Given the description of an element on the screen output the (x, y) to click on. 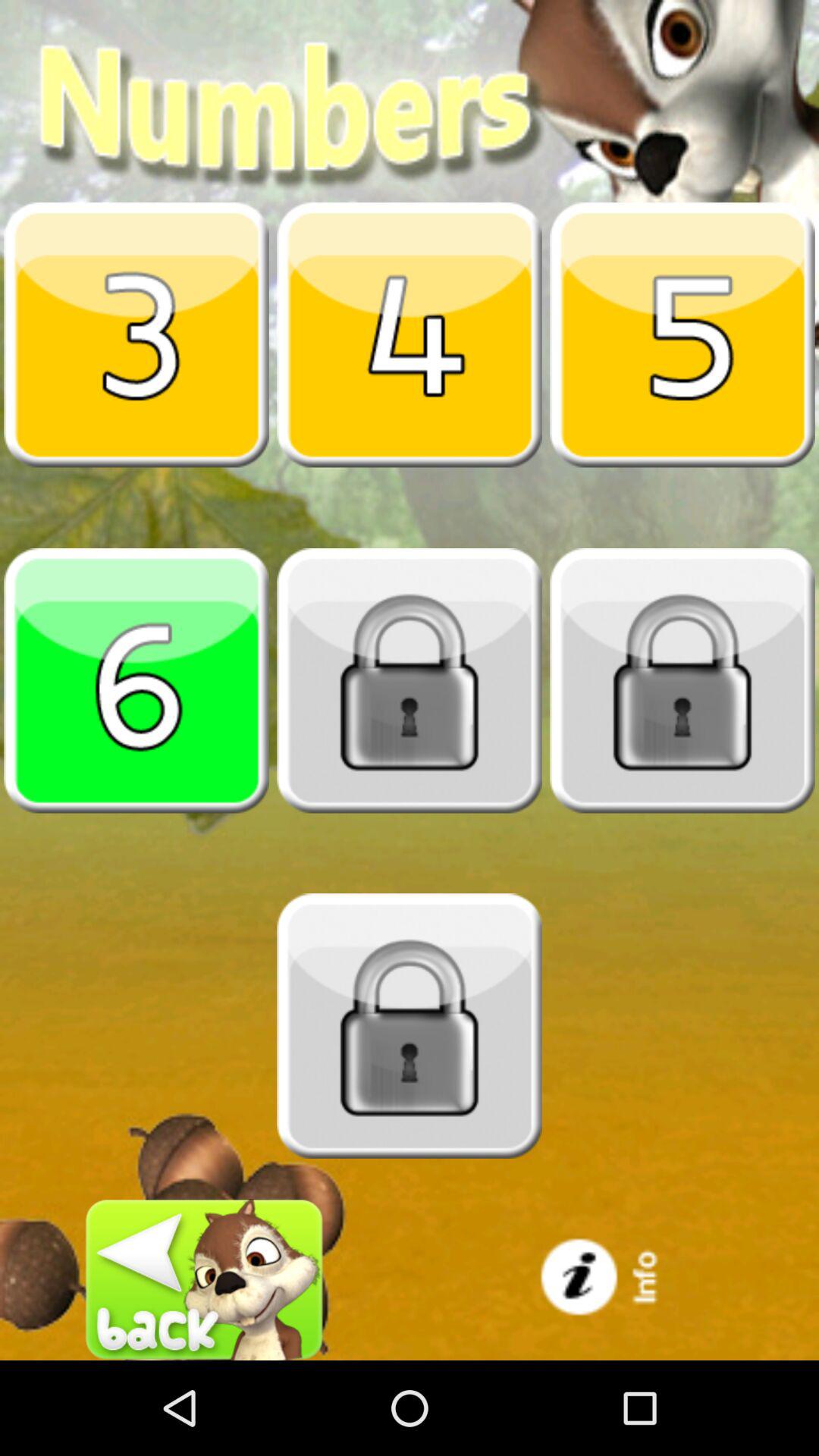
go to number six (136, 680)
